Given the description of an element on the screen output the (x, y) to click on. 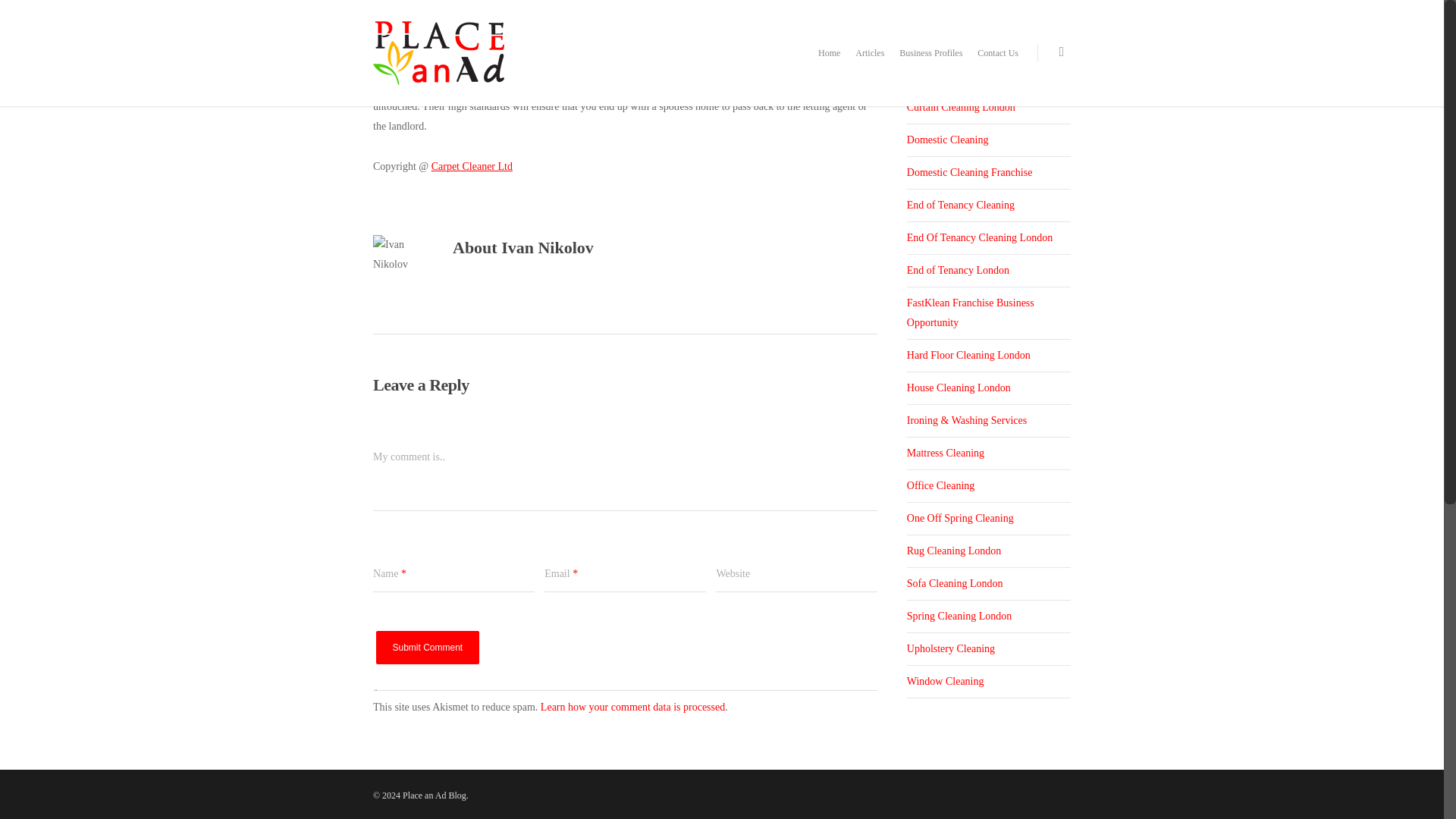
Domestic Cleaning (988, 140)
Carpet Cleaner Ltd (471, 165)
Submit Comment (427, 647)
Computer Cleaning London (988, 42)
End of Tenancy Cleaning (988, 205)
Curtain Cleaning London (988, 107)
Domestic Cleaning Franchise (988, 173)
Contract Cleaning London (988, 74)
Carpet Cleaner Ltd (471, 165)
Commercial Cleaning (988, 13)
